Given the description of an element on the screen output the (x, y) to click on. 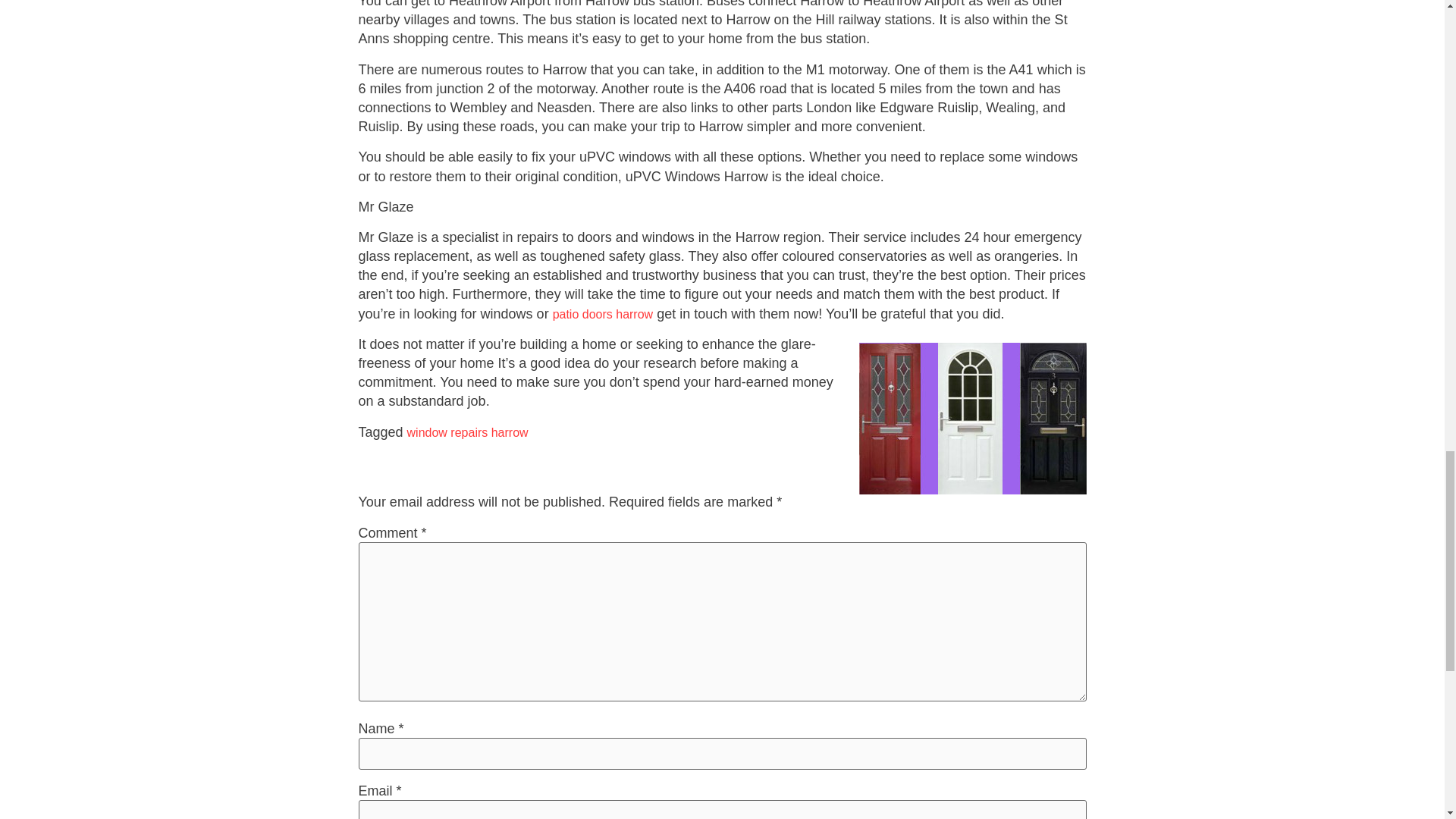
window repairs harrow (467, 431)
patio doors harrow (603, 314)
